Given the description of an element on the screen output the (x, y) to click on. 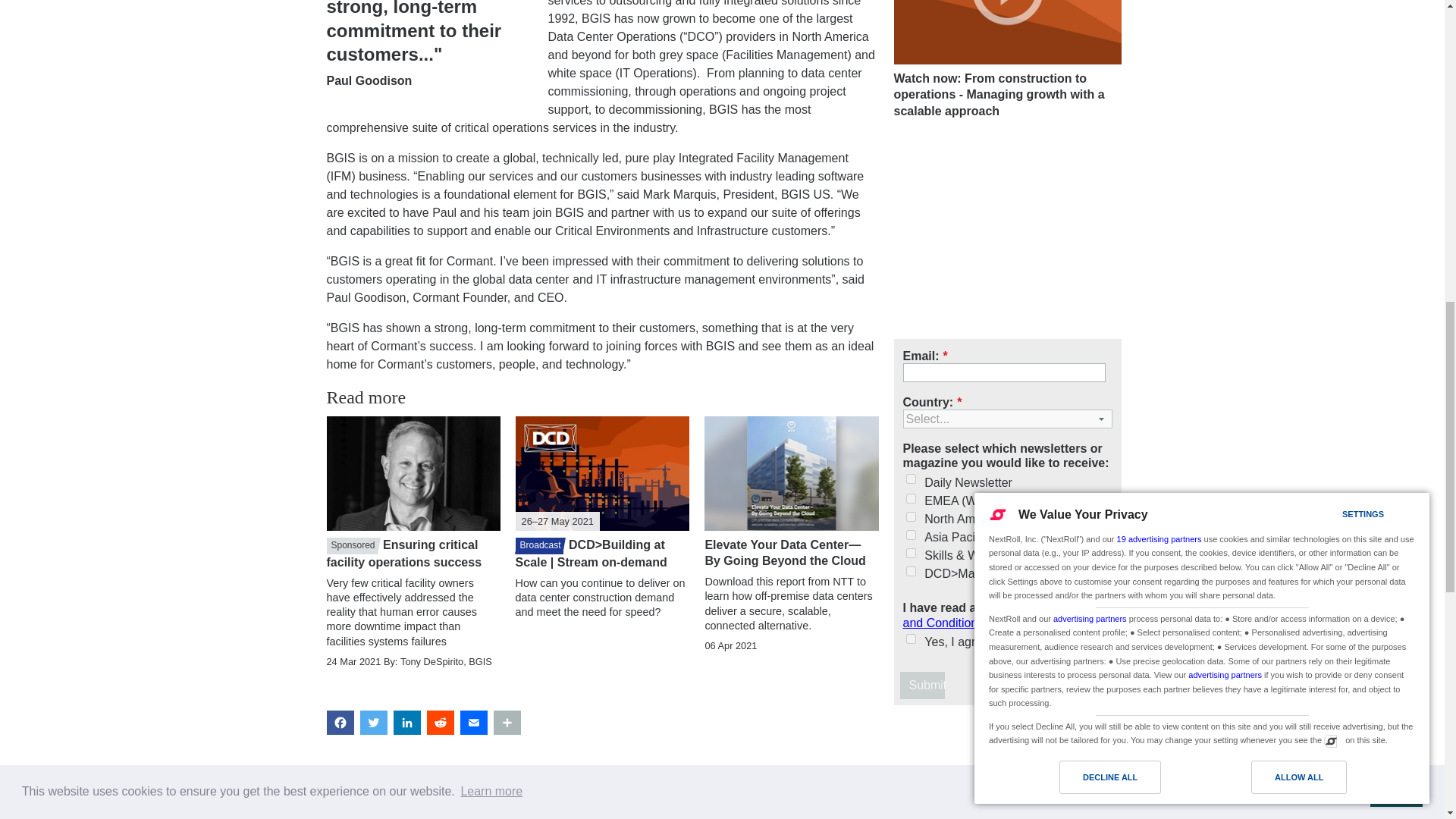
Daily global newsletter (910, 479)
BGIS (601, 809)
yes (910, 638)
NLWOS (910, 552)
Fortnightly Asia newsletter (910, 534)
Weekly North American newsletter (910, 516)
3rd party ad content (1007, 768)
Weekly EMEA newsletter (910, 498)
3rd party ad content (1007, 231)
DMAG (910, 571)
